Given the description of an element on the screen output the (x, y) to click on. 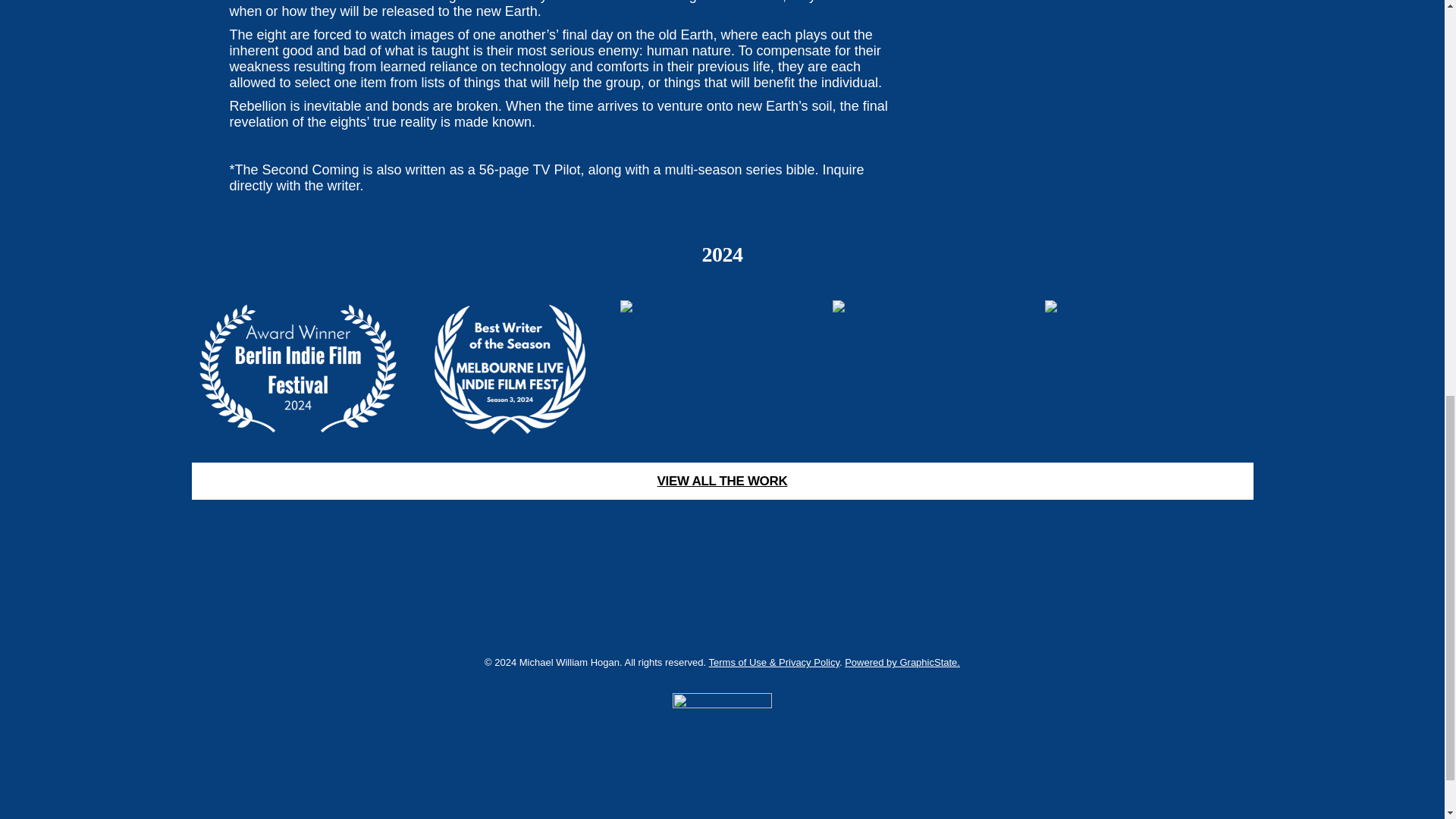
Powered by GraphicState. (901, 662)
2024-bestsocialscreenplay (722, 368)
2024-bestfeature (1147, 368)
VIEW ALL THE WORK (721, 480)
2024-bestwriter (509, 368)
